Given the description of an element on the screen output the (x, y) to click on. 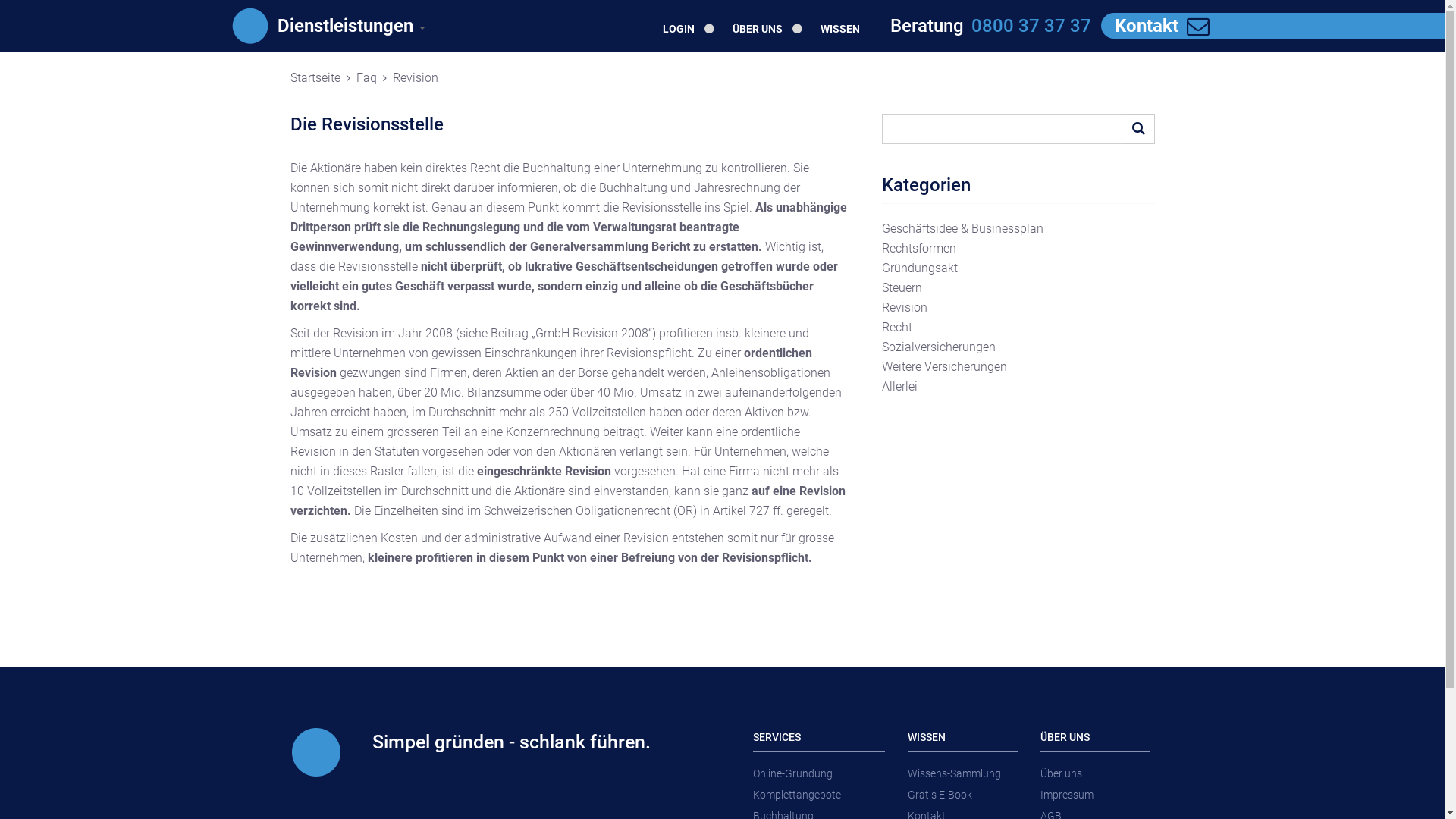
Dienstleistungen Element type: text (351, 25)
Direkt zum Inhalt Element type: text (0, 0)
WISSEN Element type: text (839, 28)
Wissens-Sammlung Element type: text (962, 773)
Allerlei Element type: text (898, 386)
Komplettangebote Element type: text (818, 794)
SERVICES Element type: text (818, 737)
Startseite Element type: text (314, 77)
Weitere Versicherungen Element type: text (943, 366)
Impressum Element type: text (1095, 794)
Revision Element type: text (903, 307)
Kategorien Element type: text (925, 184)
LOGIN Element type: text (687, 28)
WISSEN Element type: text (962, 737)
Faq Element type: text (366, 77)
Recht Element type: text (896, 327)
Sozialversicherungen Element type: text (937, 346)
Gratis E-Book Element type: text (962, 794)
Revision Element type: text (415, 77)
Rechtsformen Element type: text (918, 248)
Steuern Element type: text (901, 287)
